Given the description of an element on the screen output the (x, y) to click on. 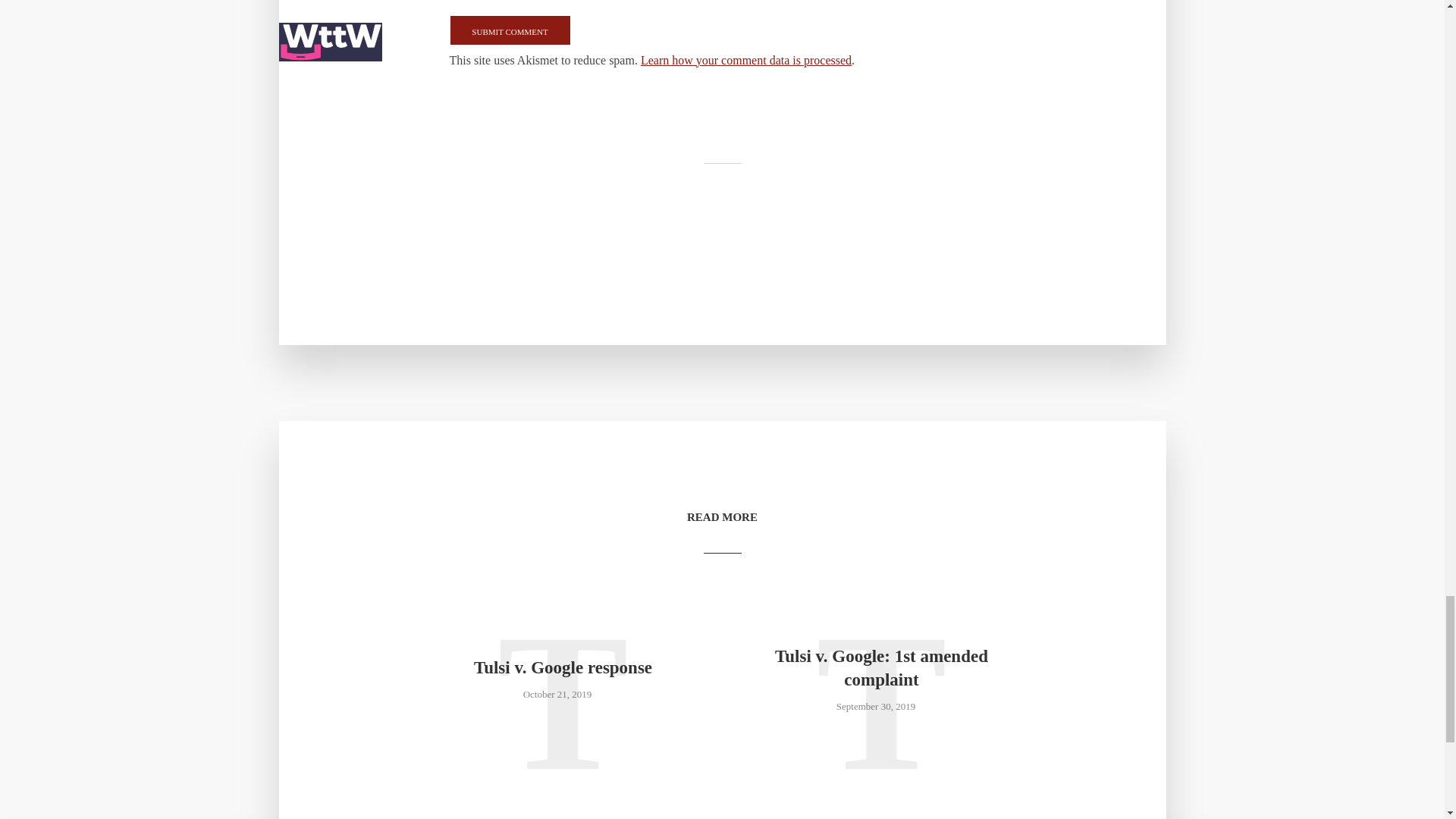
Submit Comment (509, 30)
